Given the description of an element on the screen output the (x, y) to click on. 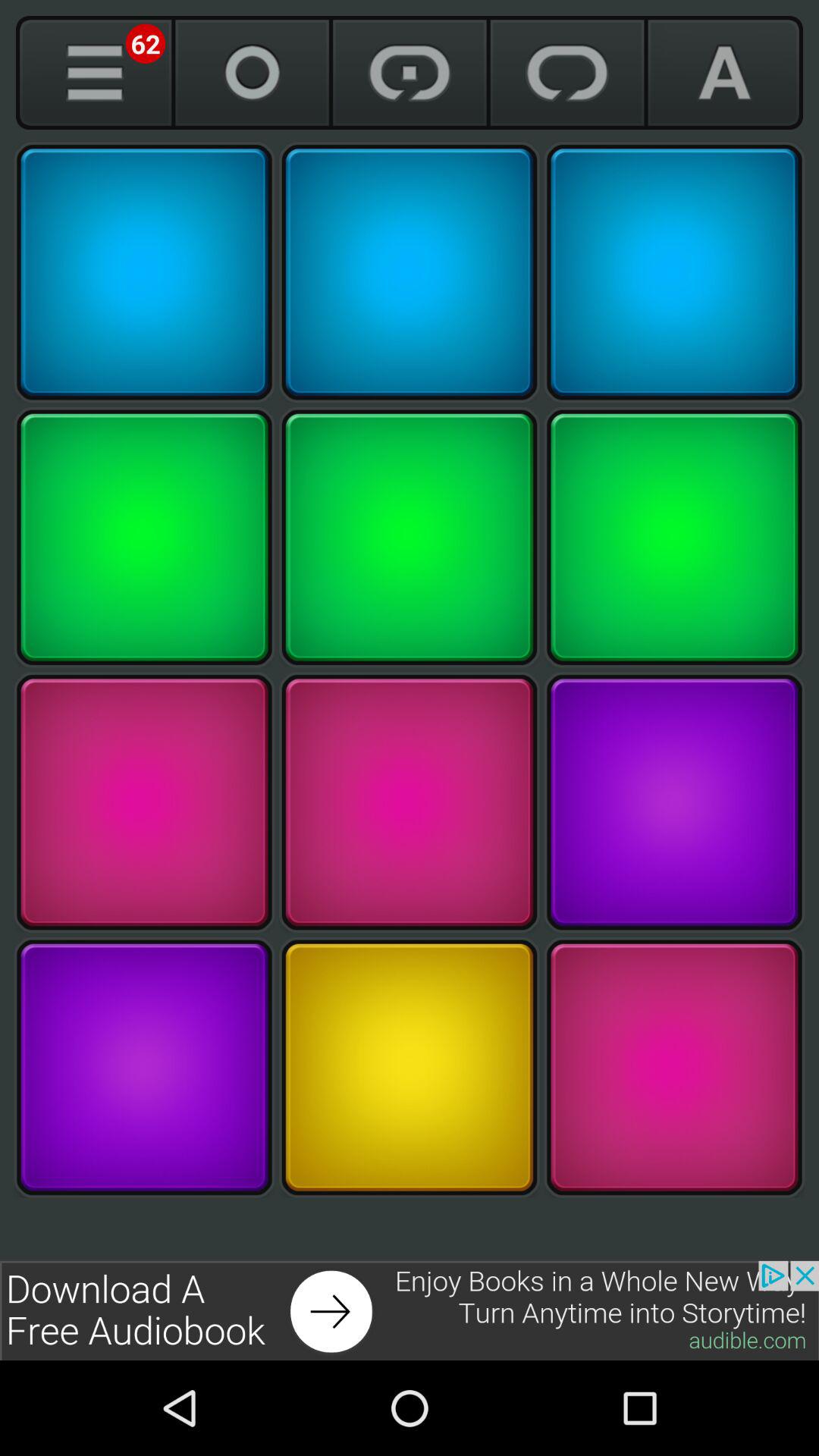
discover this beat (674, 537)
